Given the description of an element on the screen output the (x, y) to click on. 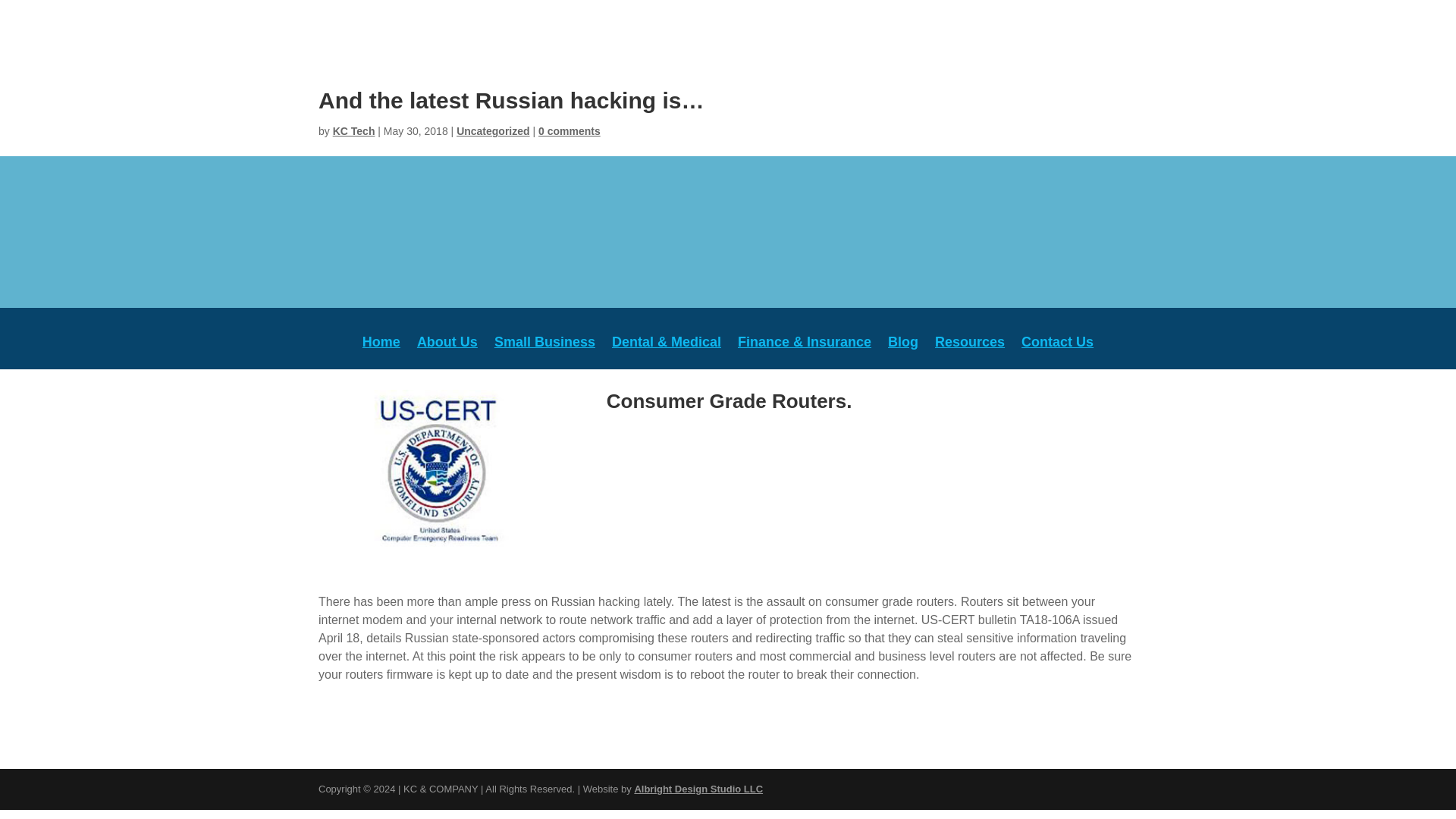
Resources (969, 352)
0 comments (568, 131)
About Us (446, 352)
Posts by KC Tech (354, 131)
KC Tech (354, 131)
Albright Design Studio LLC (697, 788)
Small Business (545, 352)
Home (381, 352)
Uncategorized (493, 131)
Contact Us (1057, 352)
